Given the description of an element on the screen output the (x, y) to click on. 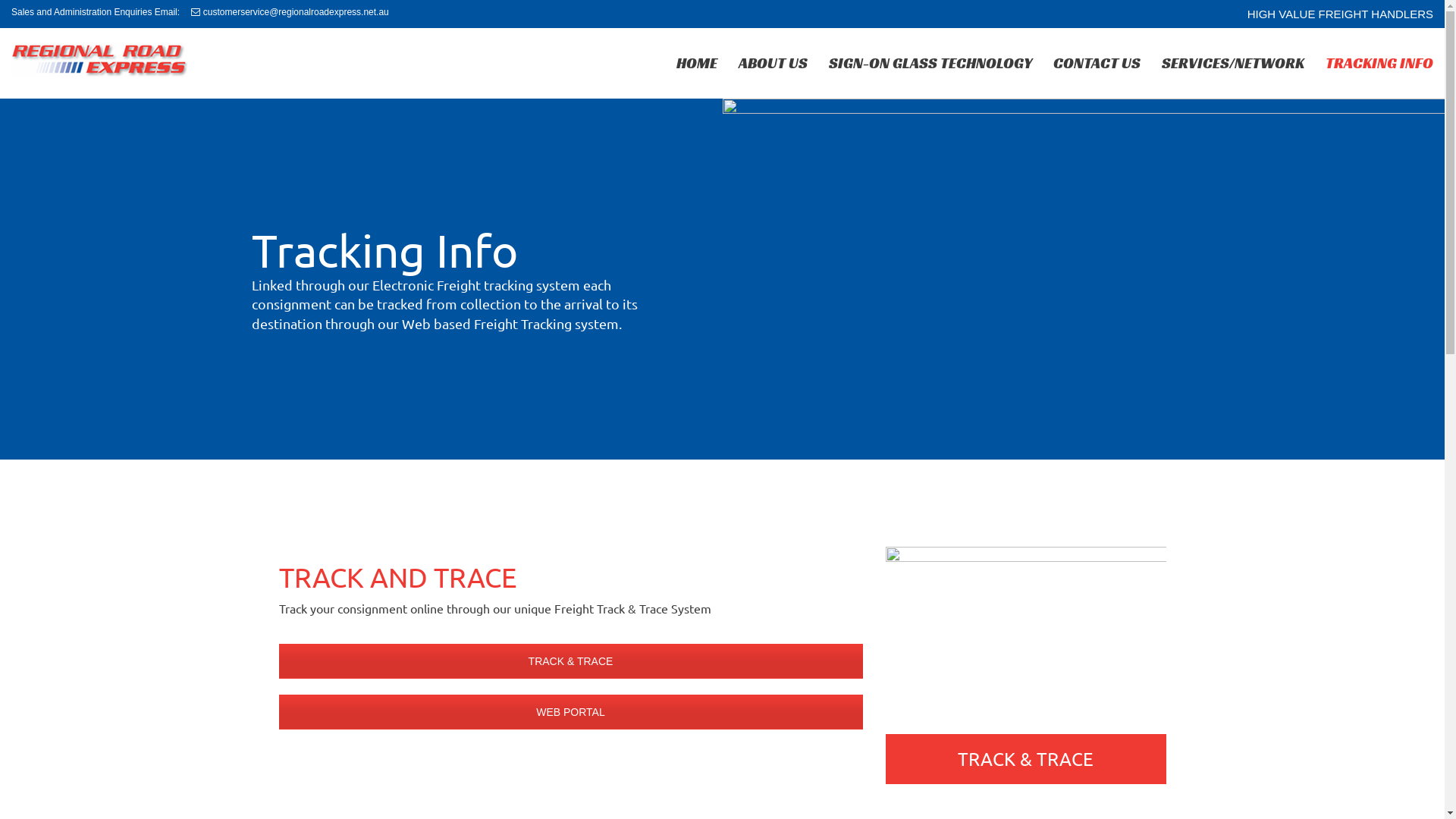
 customerservice@regionalroadexpress.net.au Element type: text (289, 11)
CONTACT US Element type: text (1096, 63)
TRACKING INFO Element type: text (1379, 63)
HOME Element type: text (696, 63)
ABOUT US Element type: text (772, 63)
SIGN-ON GLASS TECHNOLOGY Element type: text (930, 63)
TRACK & TRACE Element type: text (570, 660)
WEB PORTAL Element type: text (570, 711)
SERVICES/NETWORK Element type: text (1232, 63)
